Given the description of an element on the screen output the (x, y) to click on. 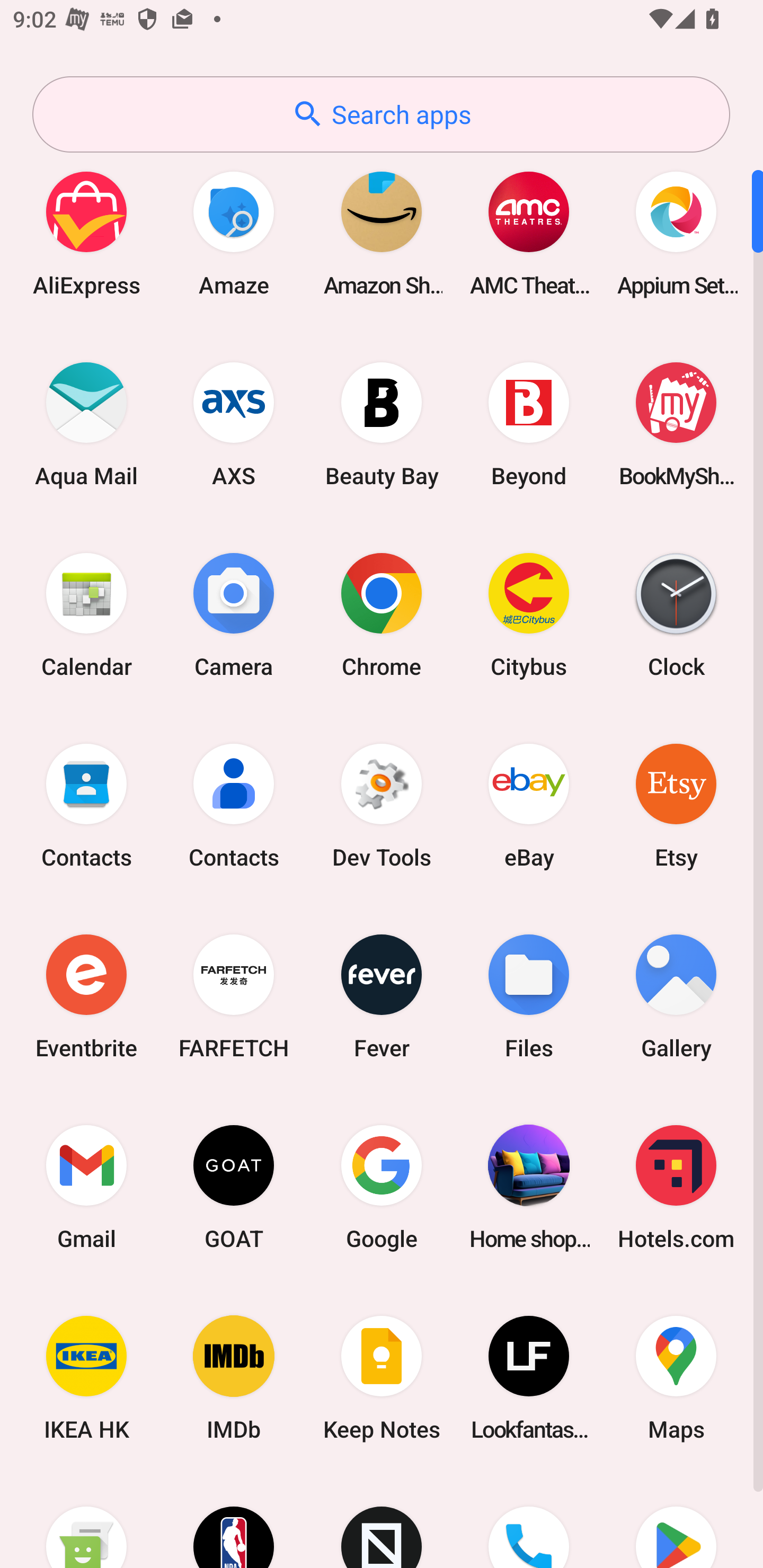
  Search apps (381, 114)
AliExpress (86, 233)
Amaze (233, 233)
Amazon Shopping (381, 233)
AMC Theatres (528, 233)
Appium Settings (676, 233)
Aqua Mail (86, 424)
AXS (233, 424)
Beauty Bay (381, 424)
Beyond (528, 424)
BookMyShow (676, 424)
Calendar (86, 614)
Camera (233, 614)
Chrome (381, 614)
Citybus (528, 614)
Clock (676, 614)
Contacts (86, 805)
Contacts (233, 805)
Dev Tools (381, 805)
eBay (528, 805)
Etsy (676, 805)
Eventbrite (86, 996)
FARFETCH (233, 996)
Fever (381, 996)
Files (528, 996)
Gallery (676, 996)
Gmail (86, 1186)
GOAT (233, 1186)
Google (381, 1186)
Home shopping (528, 1186)
Hotels.com (676, 1186)
IKEA HK (86, 1377)
IMDb (233, 1377)
Keep Notes (381, 1377)
Lookfantastic (528, 1377)
Maps (676, 1377)
Messaging (86, 1520)
NBA (233, 1520)
Novelship (381, 1520)
Phone (528, 1520)
Play Store (676, 1520)
